Given the description of an element on the screen output the (x, y) to click on. 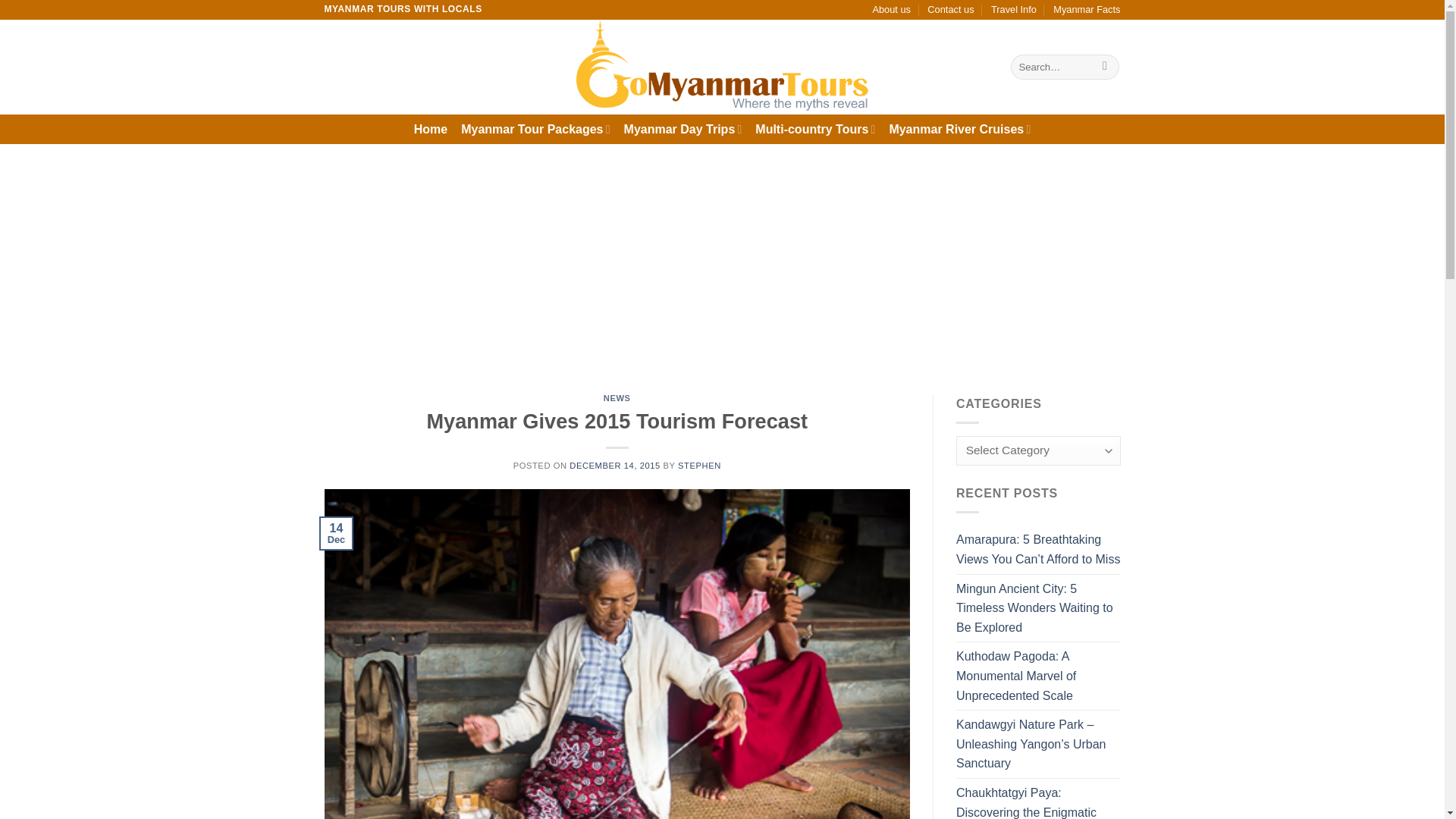
Myanmar Facts (1085, 9)
Search (1105, 67)
Home (429, 128)
Travel Info (1013, 9)
Contact us (950, 9)
Multi-country Tours (815, 129)
Myanmar Day Trips (683, 129)
About us (891, 9)
Myanmar River Cruises (959, 129)
Myanmar Tour Packages (535, 129)
